Given the description of an element on the screen output the (x, y) to click on. 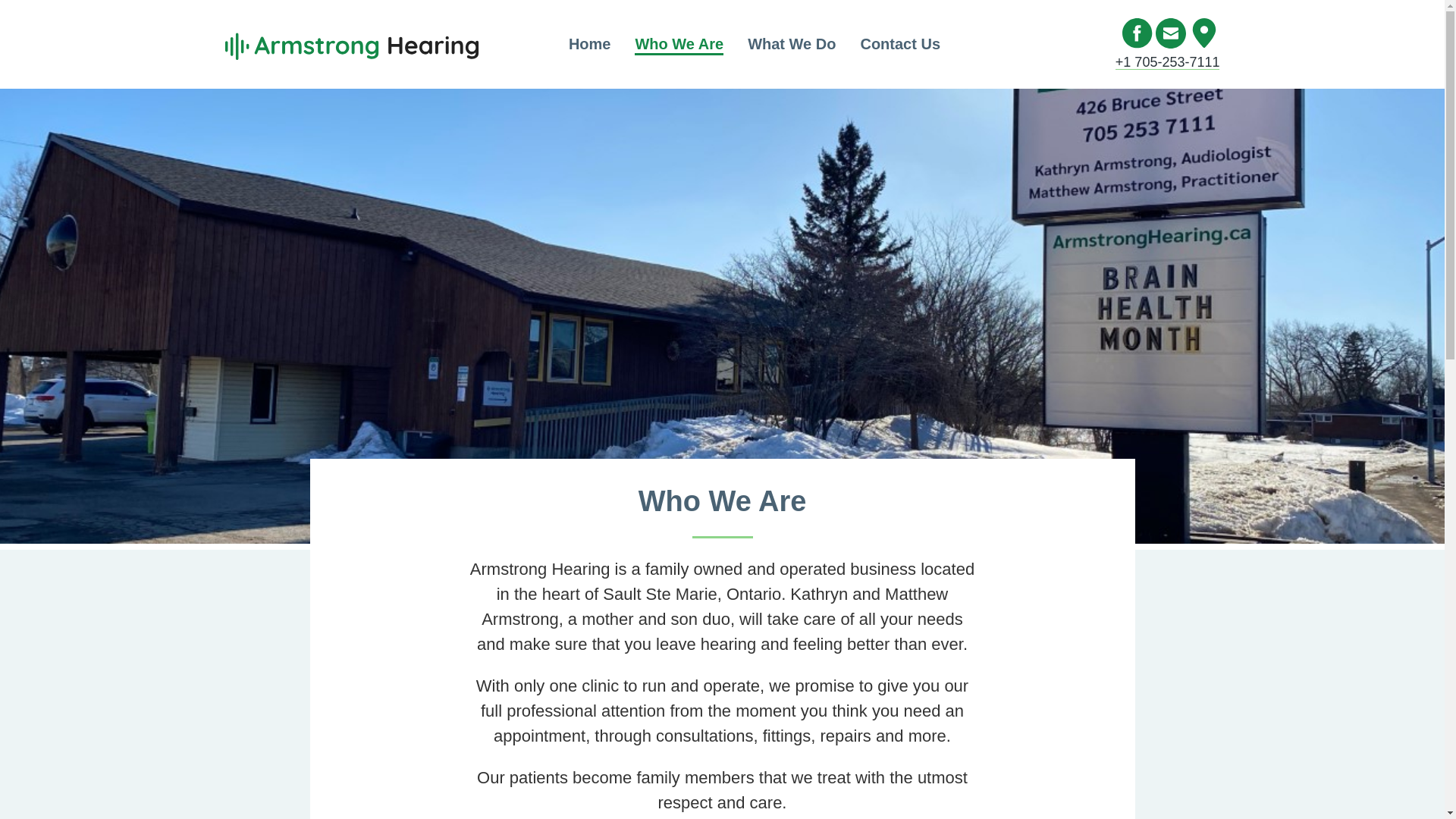
Armstrong Hearing Element type: text (352, 43)
Contact Us Element type: text (899, 44)
What We Do Element type: text (791, 44)
+1 705-253-7111 Element type: text (1167, 61)
Connect With Us On Facebook Element type: text (1137, 33)
Email Us Element type: text (1170, 33)
Location & Directions Element type: text (1204, 33)
Home Element type: text (589, 44)
Who We Are Element type: text (678, 44)
